Given the description of an element on the screen output the (x, y) to click on. 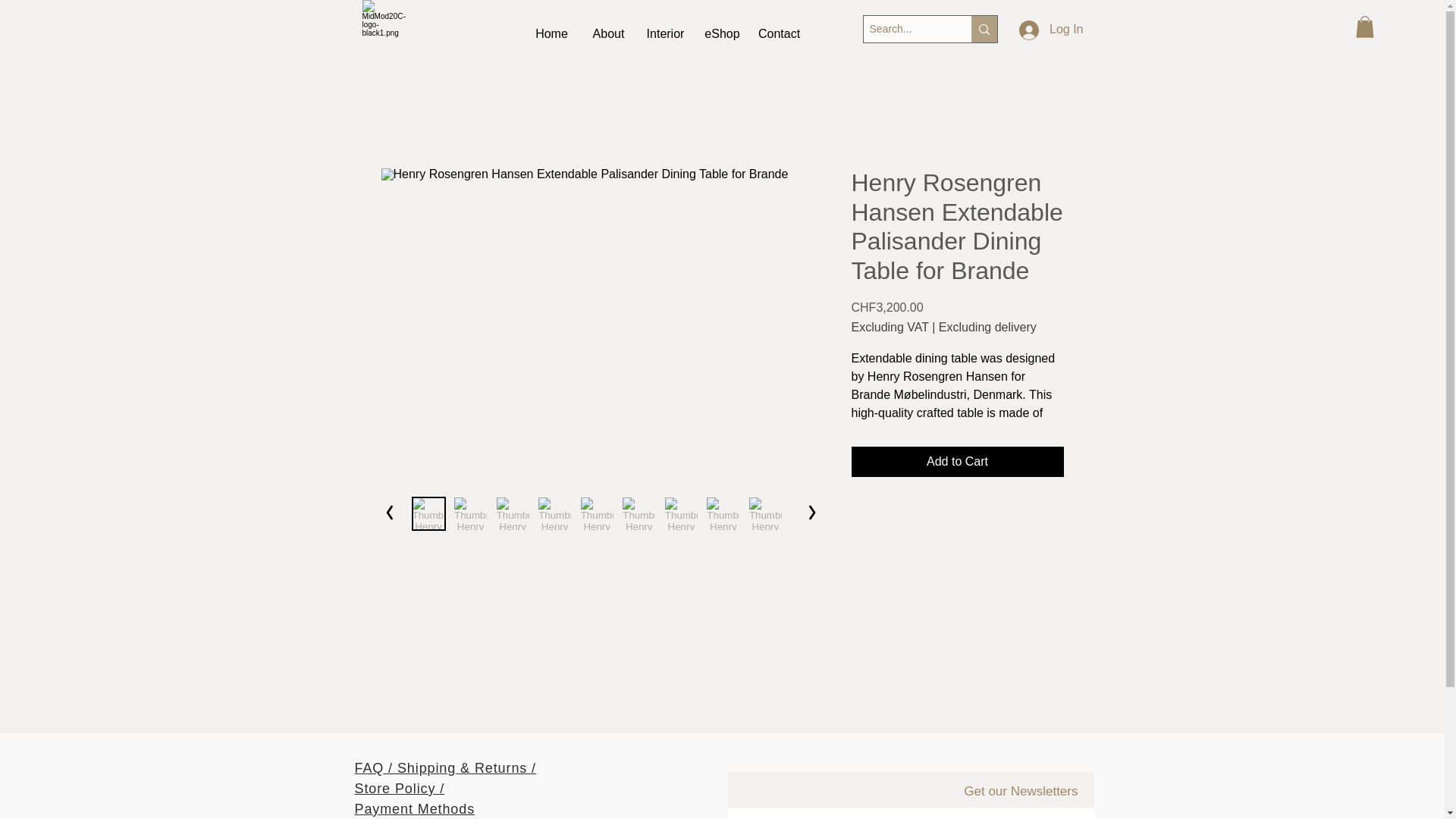
Log In (1051, 29)
Home (550, 34)
About (608, 34)
Add to Cart (956, 461)
Contact (779, 34)
Interior (665, 34)
eShop (722, 34)
Excluding delivery (987, 327)
